Given the description of an element on the screen output the (x, y) to click on. 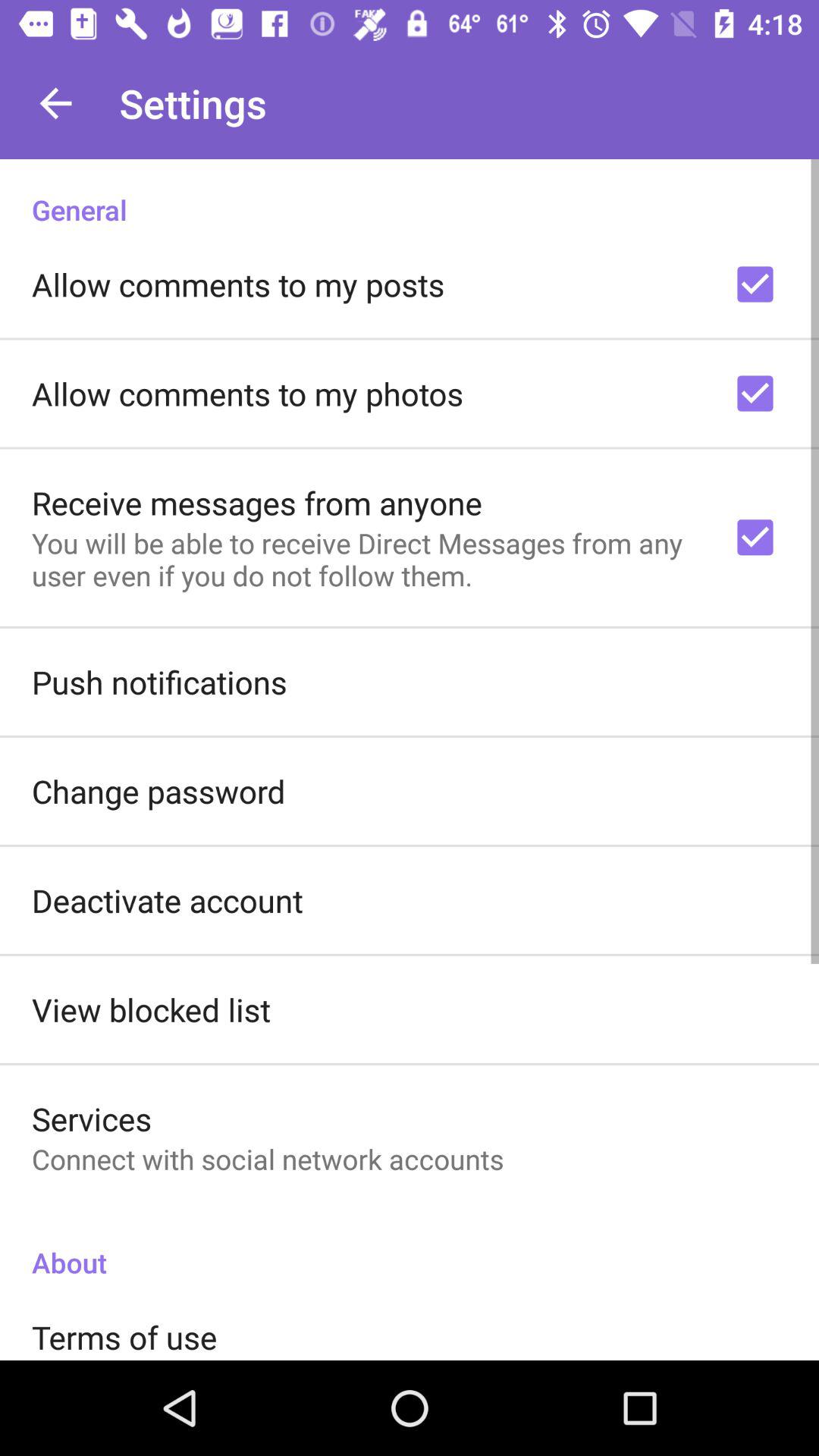
press item above the services item (150, 1009)
